Given the description of an element on the screen output the (x, y) to click on. 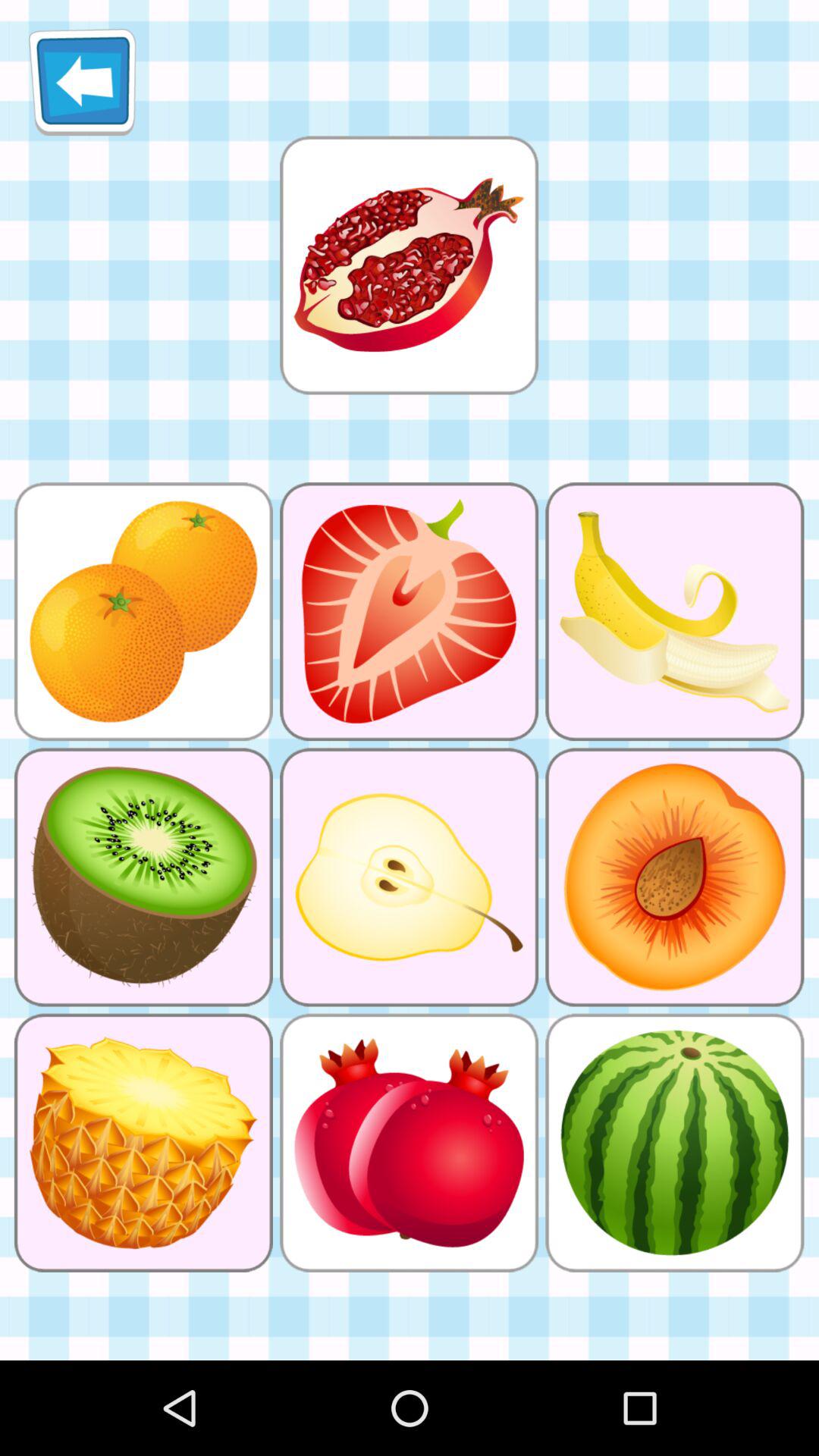
fruit option (409, 265)
